Given the description of an element on the screen output the (x, y) to click on. 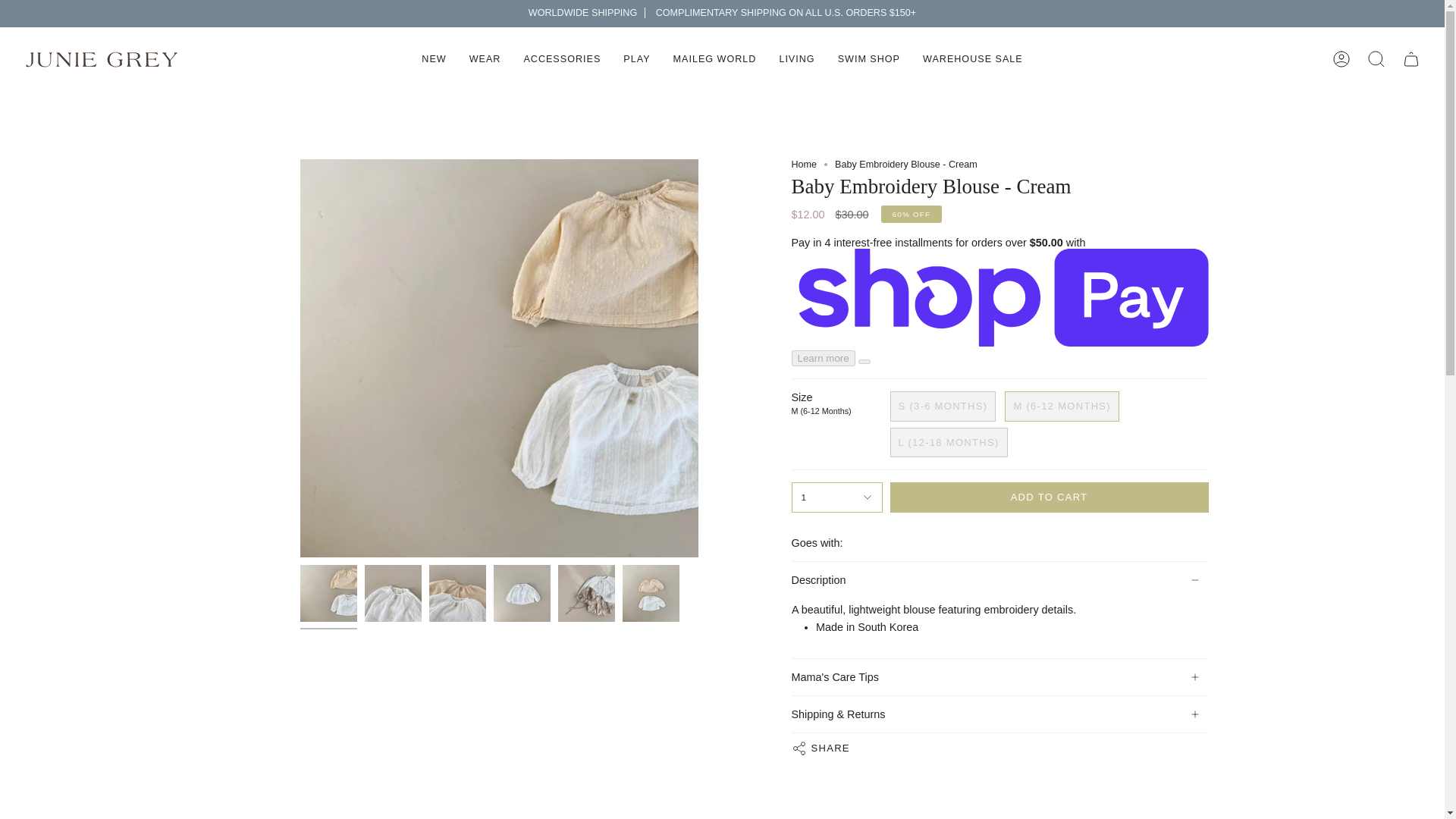
ACCESSORIES (561, 59)
Cart (1410, 58)
LIVING (796, 59)
WAREHOUSE SALE (972, 59)
WEAR (485, 59)
MAILEG WORLD (715, 59)
Search (1375, 58)
SWIM SHOP (869, 59)
PLAY (636, 59)
NEW (433, 59)
My Account (1340, 58)
